Given the description of an element on the screen output the (x, y) to click on. 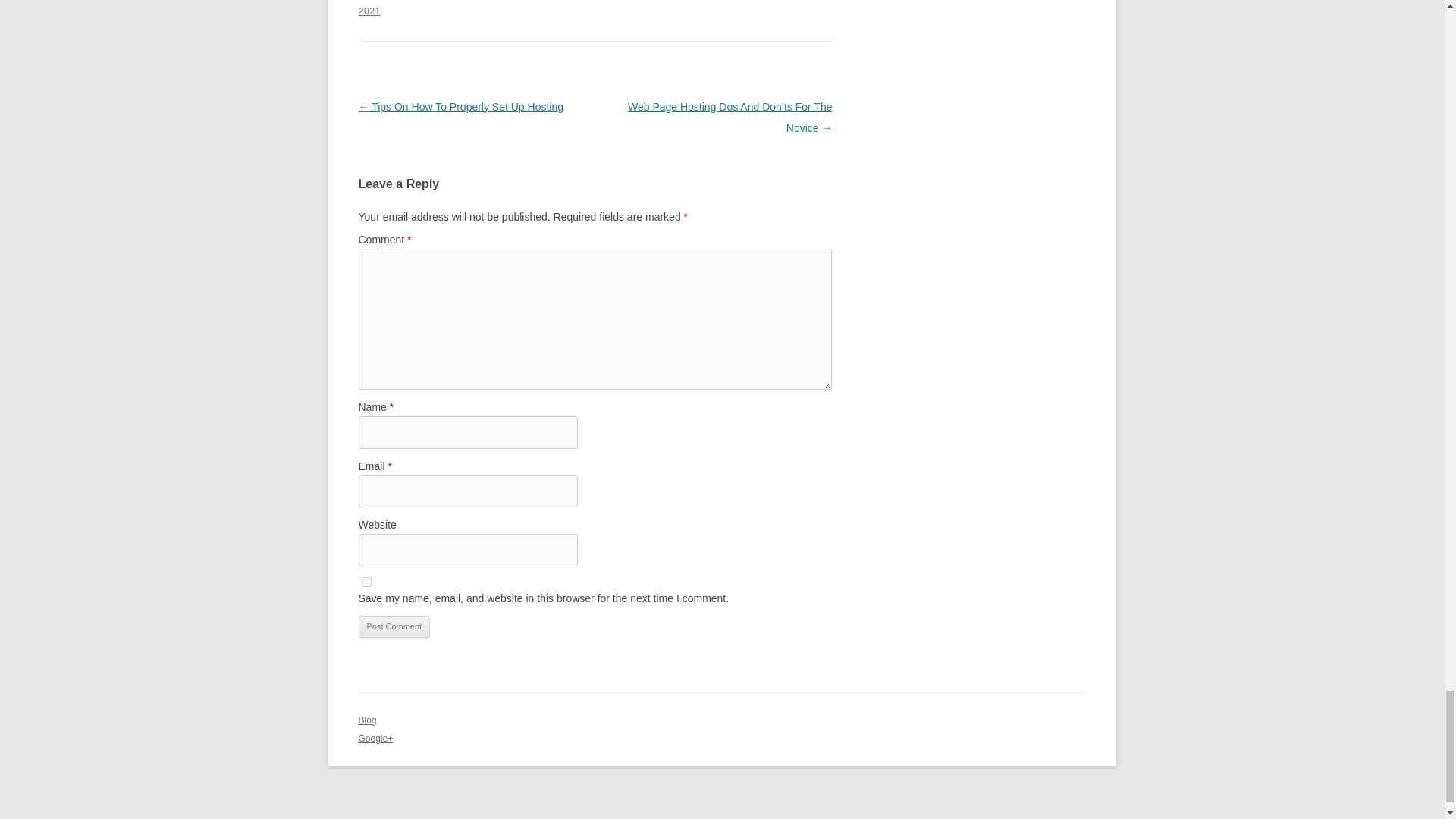
Blog (366, 719)
3:57 pm (594, 8)
August 20, 2021 (594, 8)
yes (366, 582)
Post Comment (393, 626)
Post Comment (393, 626)
